Given the description of an element on the screen output the (x, y) to click on. 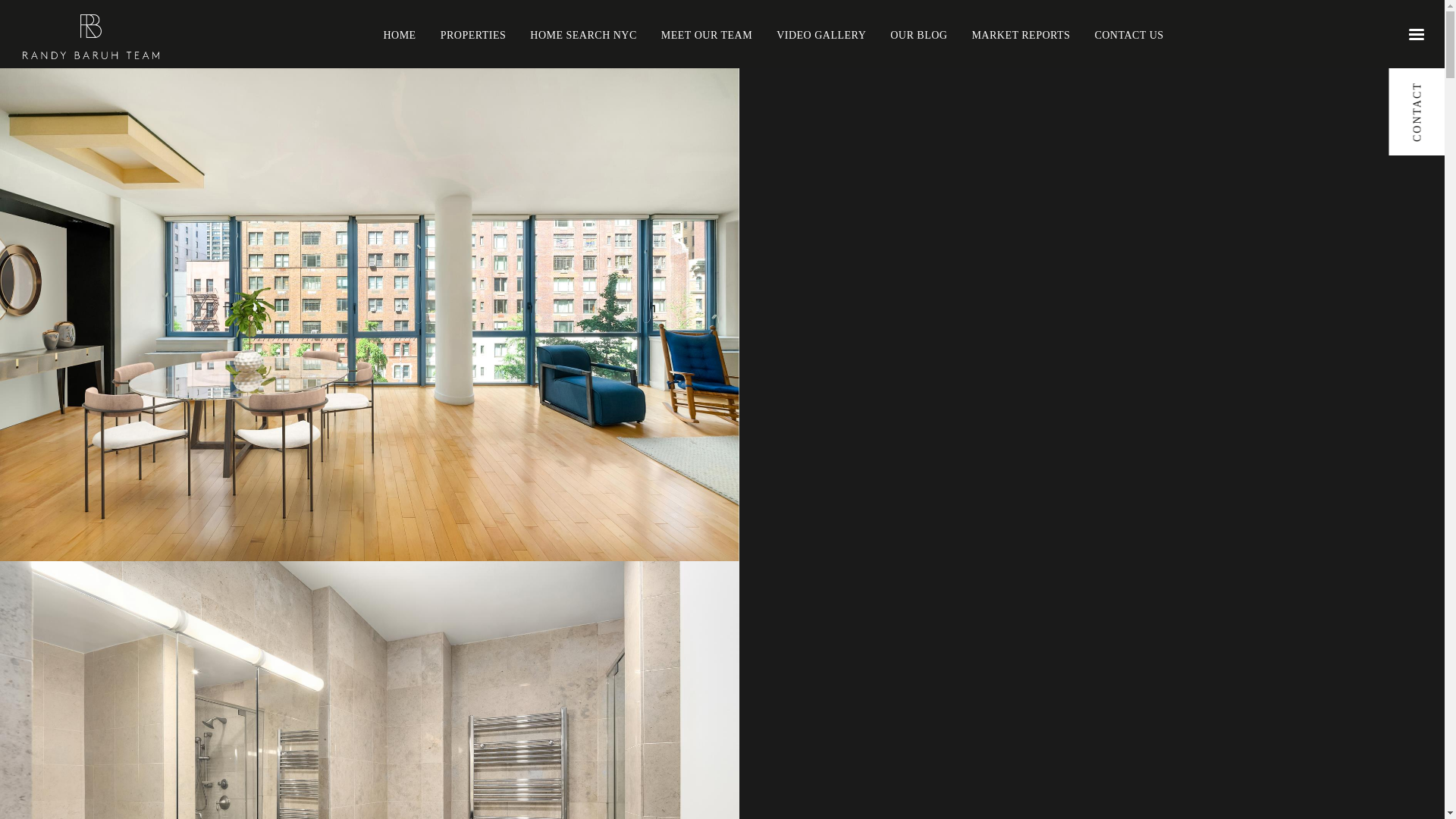
HOME (398, 33)
CONTACT US (1128, 33)
PROPERTIES (473, 33)
MEET OUR TEAM (706, 33)
HOME SEARCH NYC (583, 33)
MARKET REPORTS (1020, 33)
VIDEO GALLERY (821, 33)
OUR BLOG (918, 33)
